Given the description of an element on the screen output the (x, y) to click on. 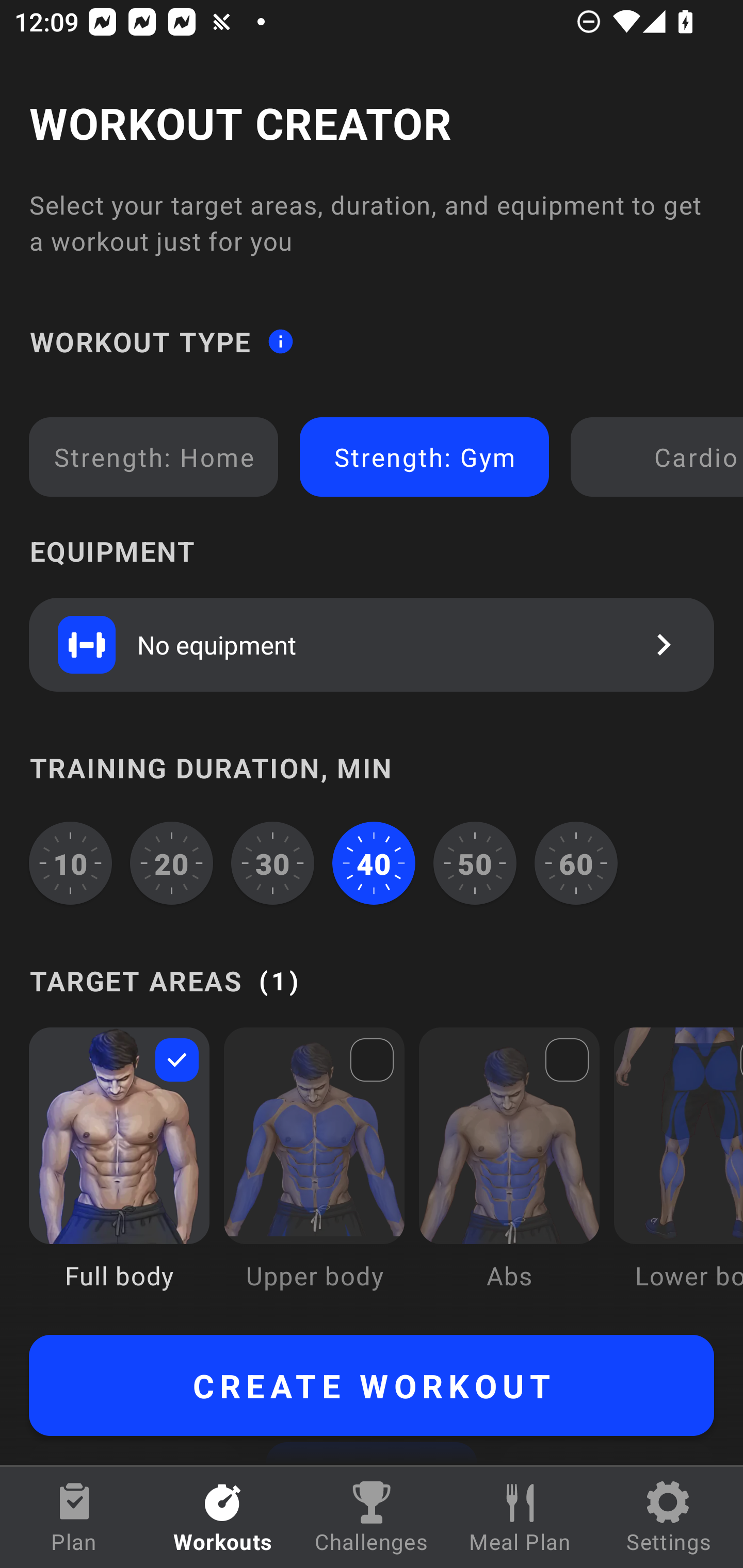
Workout type information button (280, 340)
Strength: Home (153, 457)
Cardio (660, 457)
No equipment (371, 644)
10 (70, 863)
20 (171, 863)
30 (272, 863)
40 (373, 863)
50 (474, 863)
60 (575, 863)
Upper body (313, 1172)
Abs (509, 1172)
Lower body (678, 1172)
CREATE WORKOUT (371, 1385)
 Plan  (74, 1517)
 Challenges  (371, 1517)
 Meal Plan  (519, 1517)
 Settings  (668, 1517)
